Given the description of an element on the screen output the (x, y) to click on. 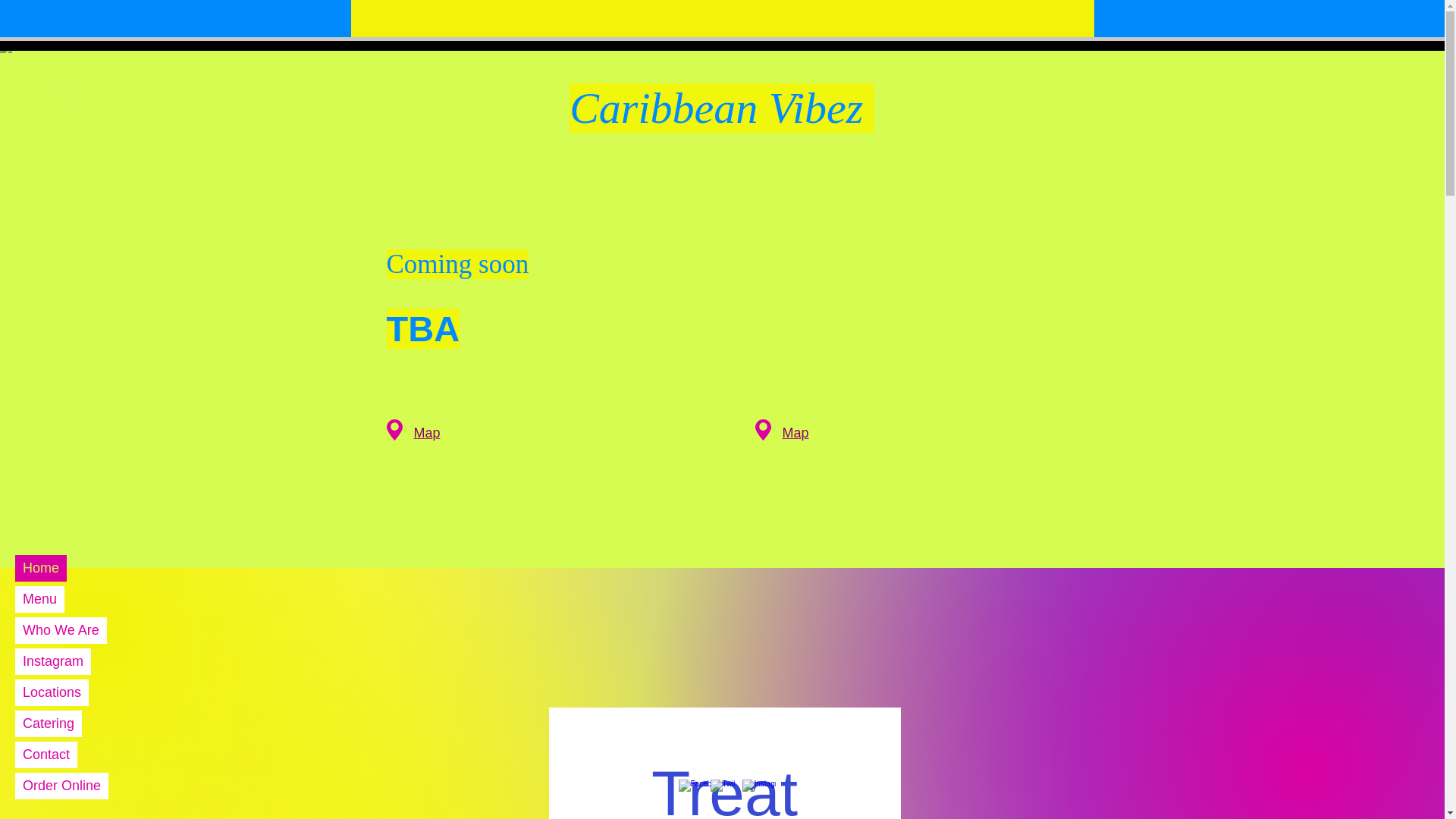
Locations (51, 692)
Menu (39, 599)
Instagram (52, 661)
Contact (45, 755)
Who We Are (60, 630)
Map (796, 432)
Home (40, 568)
Order Online (60, 786)
Map (427, 432)
Catering (47, 723)
